Given the description of an element on the screen output the (x, y) to click on. 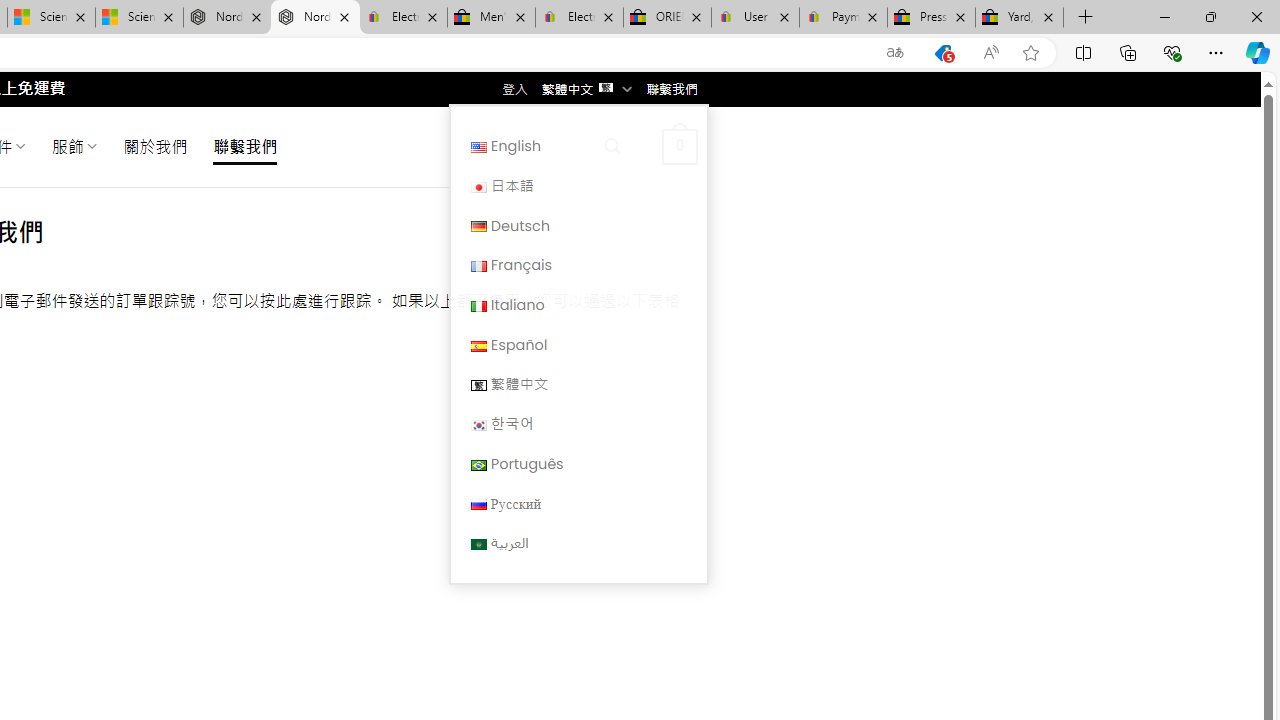
Show translate options (895, 53)
Yard, Garden & Outdoor Living (1019, 17)
Italiano Italiano (578, 303)
Deutsch (478, 227)
Press Room - eBay Inc. (931, 17)
